Given the description of an element on the screen output the (x, y) to click on. 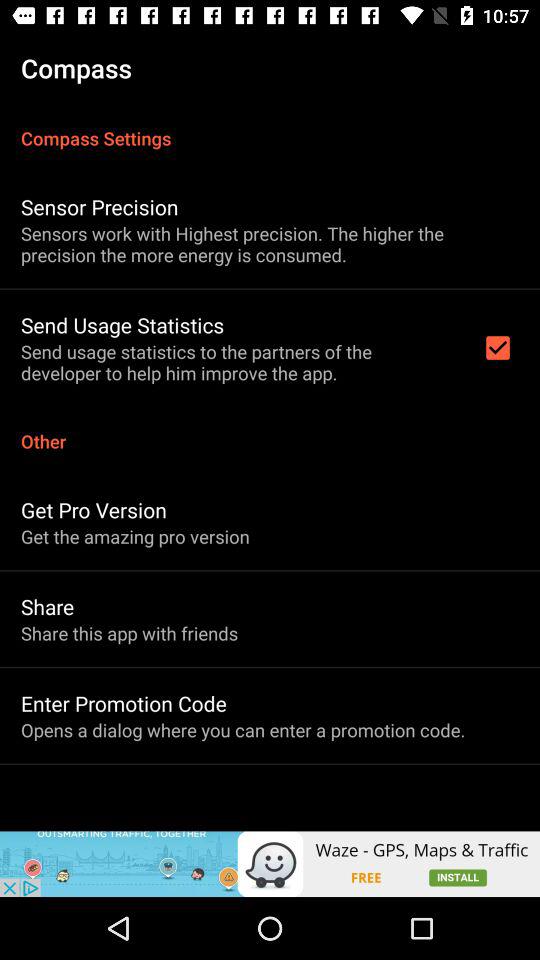
select icon below the opens a dialog item (270, 863)
